Given the description of an element on the screen output the (x, y) to click on. 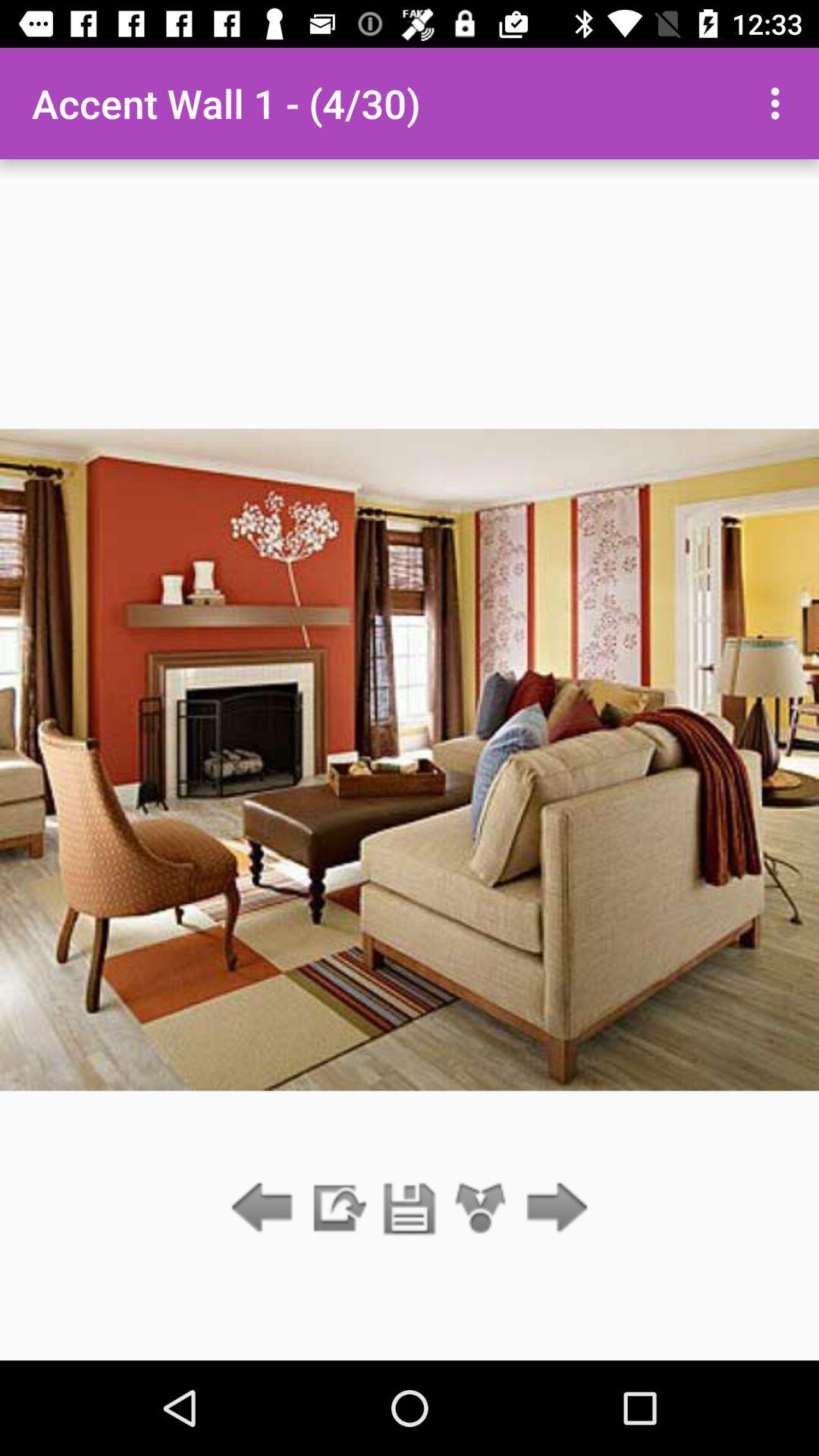
previous screen (266, 1209)
